Given the description of an element on the screen output the (x, y) to click on. 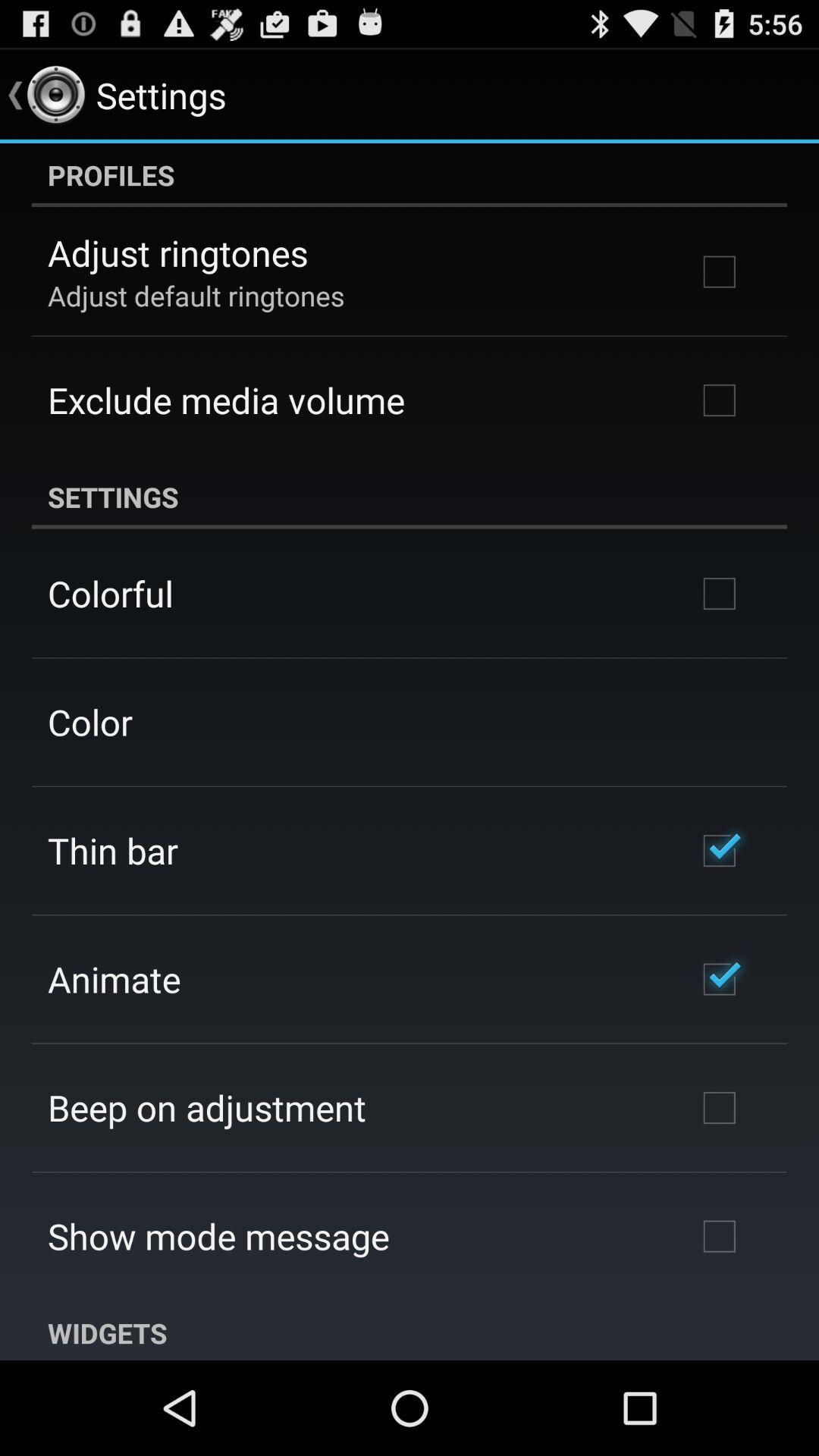
launch the app above beep on adjustment item (113, 978)
